Given the description of an element on the screen output the (x, y) to click on. 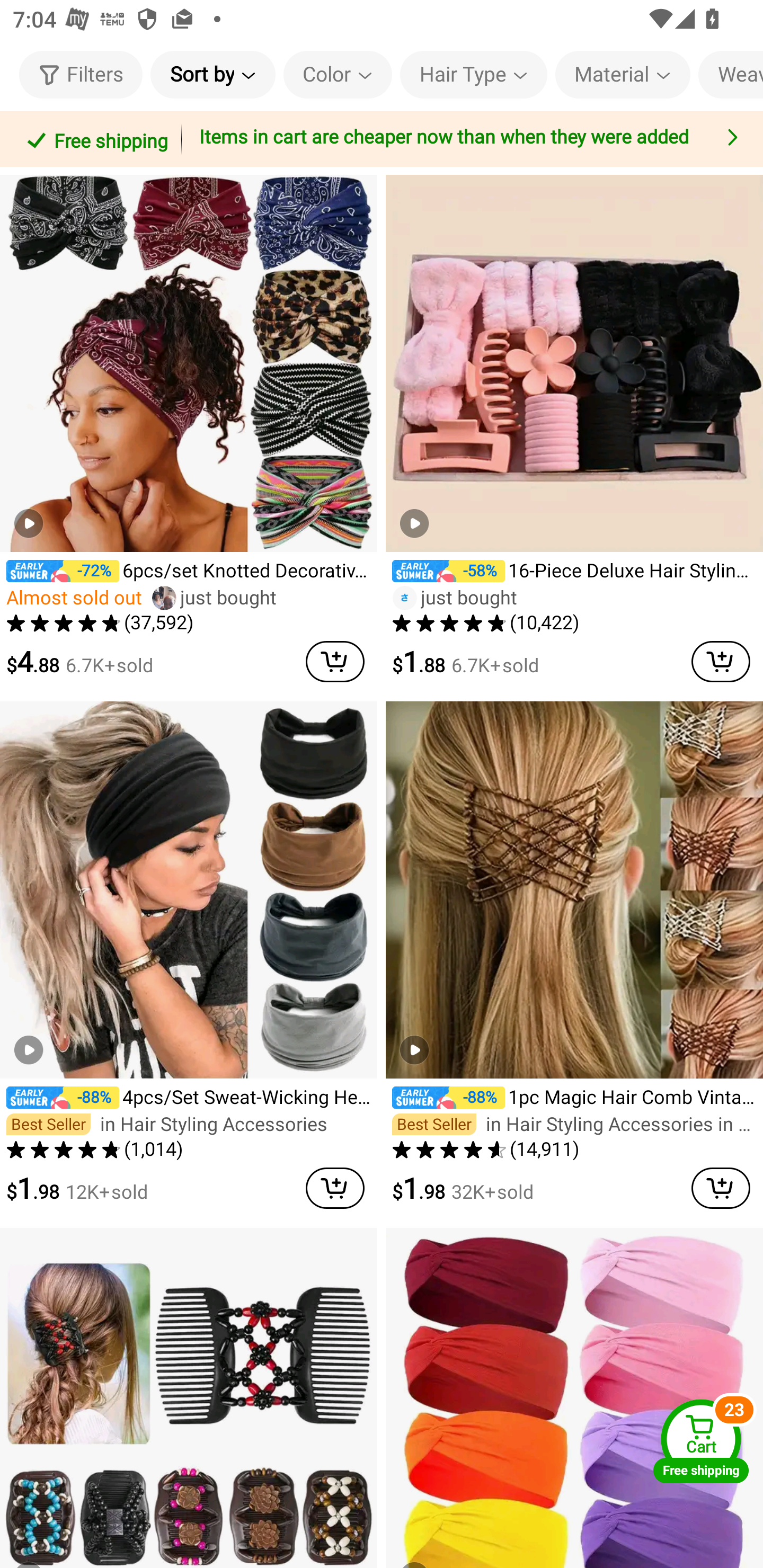
Filters (80, 74)
Sort by (212, 74)
Color (337, 74)
Hair Type (473, 74)
Material (622, 74)
Weaving Method (730, 74)
 Free shipping (93, 138)
Cart Free shipping Cart (701, 1440)
